Given the description of an element on the screen output the (x, y) to click on. 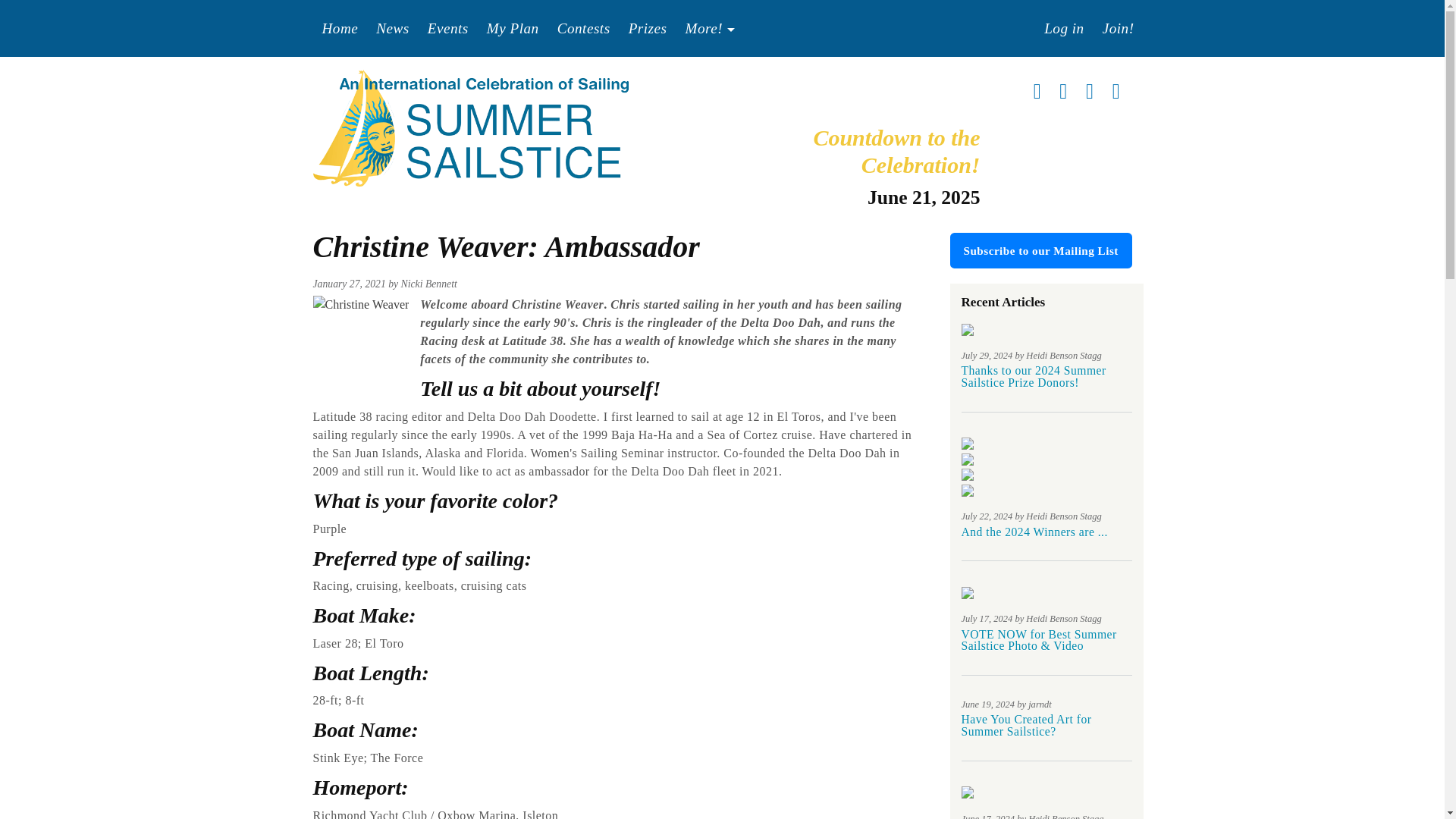
Prizes (648, 28)
Home (469, 127)
Join! (1117, 28)
Have You Created Art for Summer Sailstice? (1026, 724)
Thanks to our 2024 Summer Sailstice Prize Donors! (1033, 376)
Subscribe to our Mailing List (1040, 250)
My Plan (512, 28)
News (392, 28)
More! (710, 28)
Contests (584, 28)
Log in (1064, 28)
And the 2024 Winners are ... (1034, 530)
Events (448, 28)
Home (339, 28)
